Given the description of an element on the screen output the (x, y) to click on. 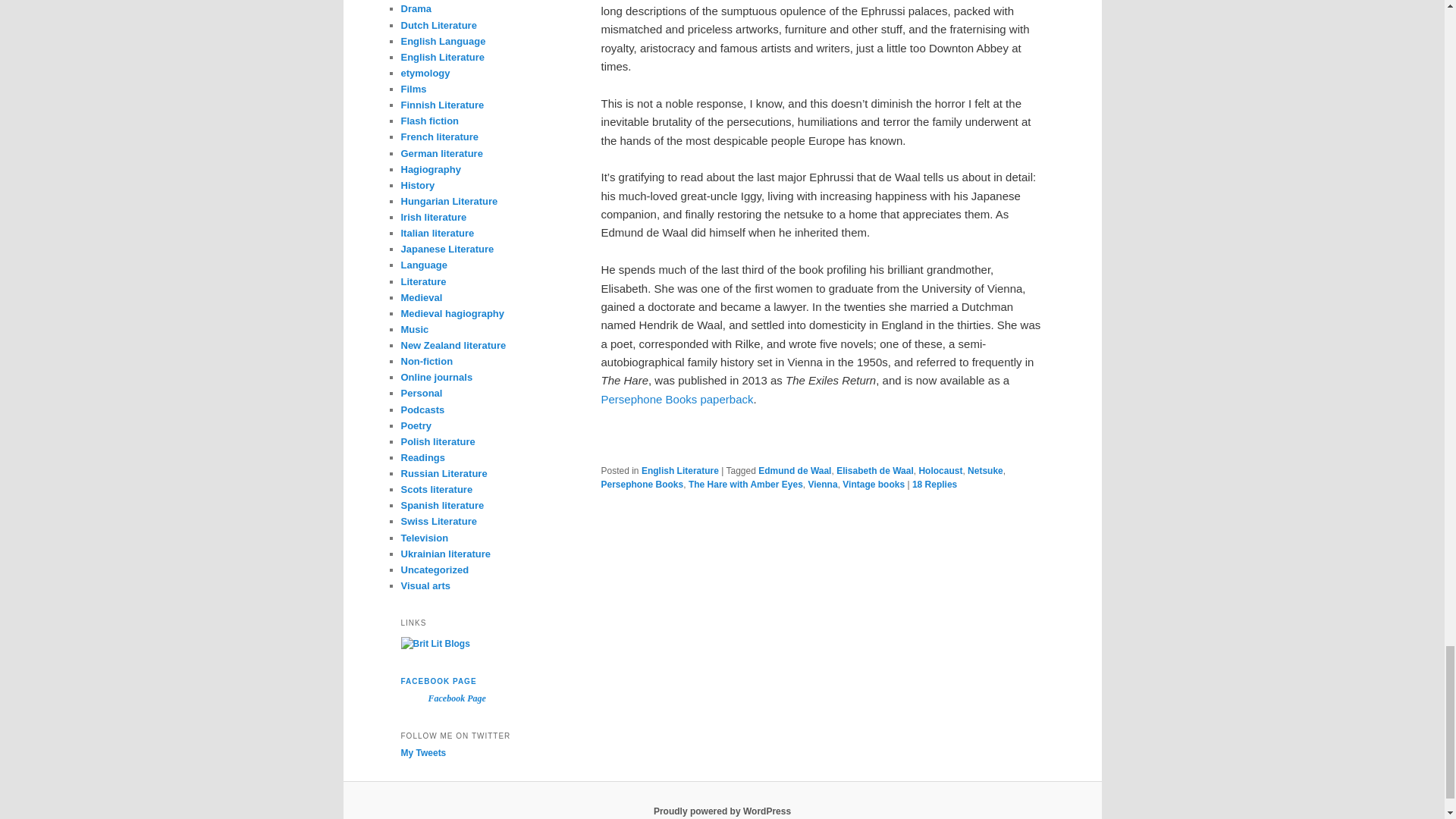
Semantic Personal Publishing Platform (721, 810)
Vienna (822, 484)
Netsuke (985, 470)
Persephone Books (640, 484)
Elisabeth de Waal (874, 470)
Edmund de Waal (794, 470)
Persephone Books paperback (675, 399)
The Hare with Amber Eyes (745, 484)
Holocaust (940, 470)
English Literature (680, 470)
